Given the description of an element on the screen output the (x, y) to click on. 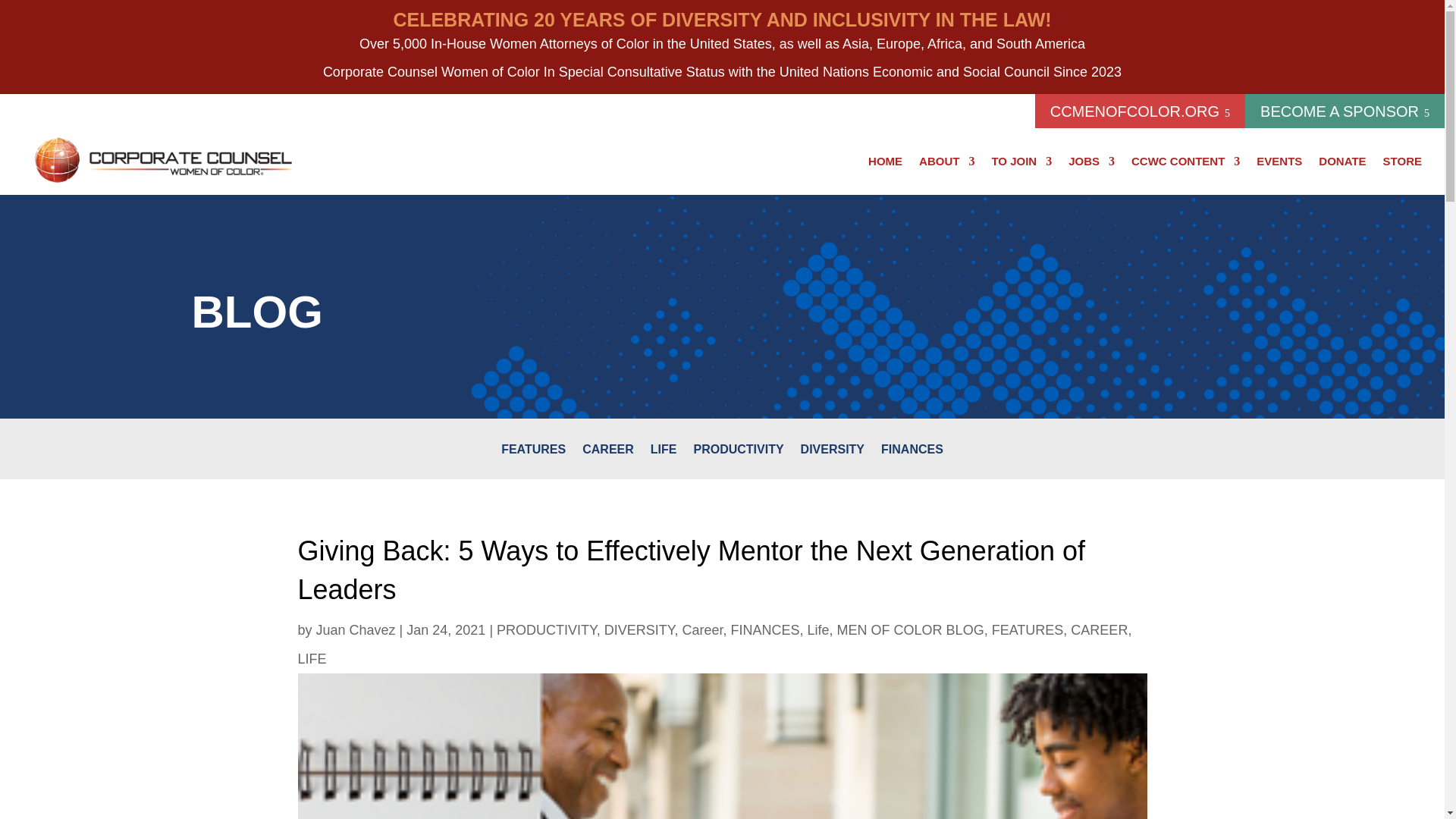
JOBS (1091, 160)
DONATE (1342, 160)
TO JOIN (1021, 160)
EVENTS (1278, 160)
HOME (884, 160)
CCMENOFCOLOR.ORG5 (1139, 111)
ABOUT (946, 160)
Posts by Juan Chavez (355, 630)
CCWC CONTENT (1185, 160)
Blogpost6 (722, 746)
STORE (1402, 160)
